Given the description of an element on the screen output the (x, y) to click on. 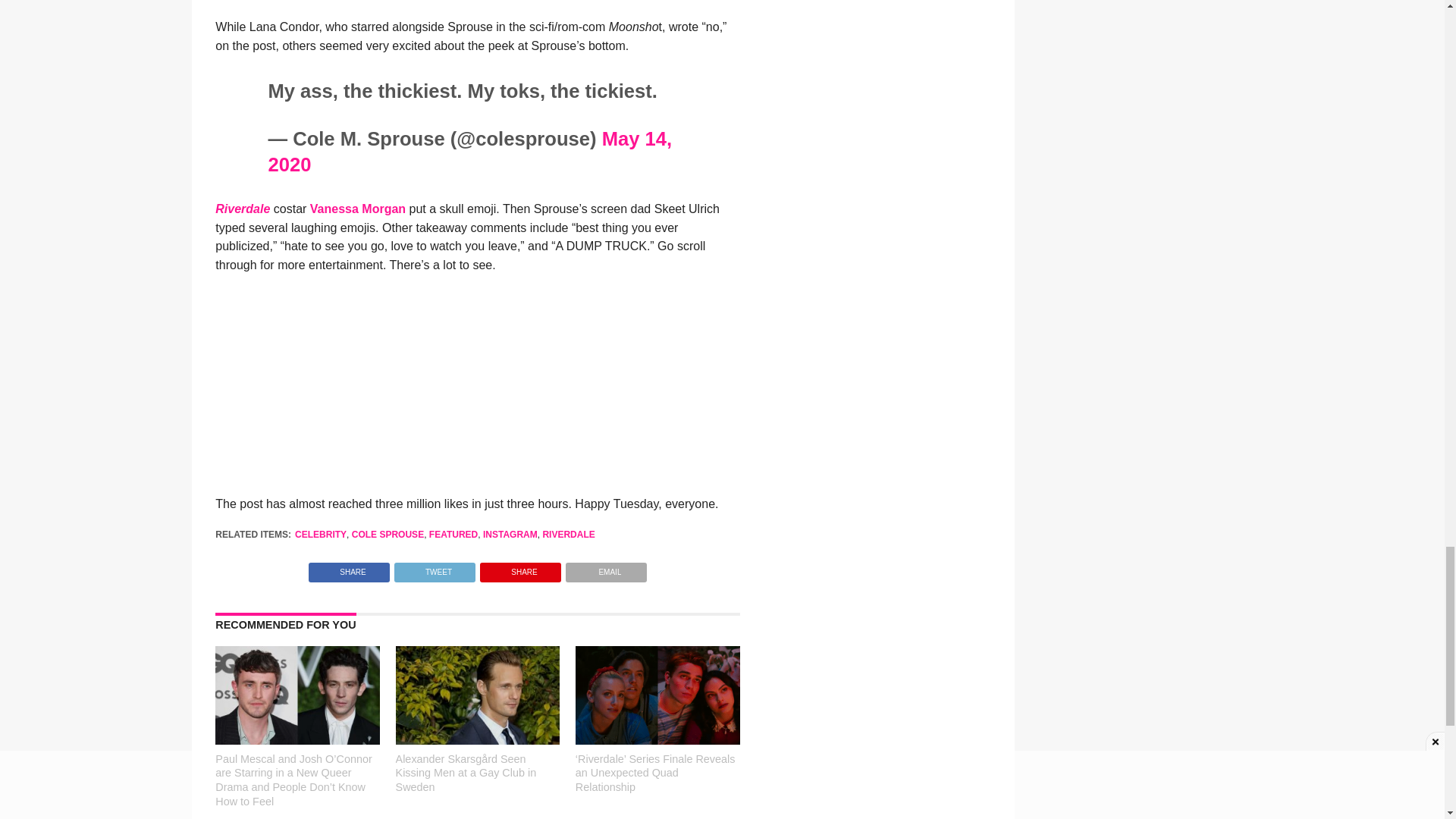
Tweet This Post (434, 567)
Pin This Post (520, 567)
Share on Facebook (349, 567)
Riverdale (242, 208)
May 14, 2020 (469, 150)
